Given the description of an element on the screen output the (x, y) to click on. 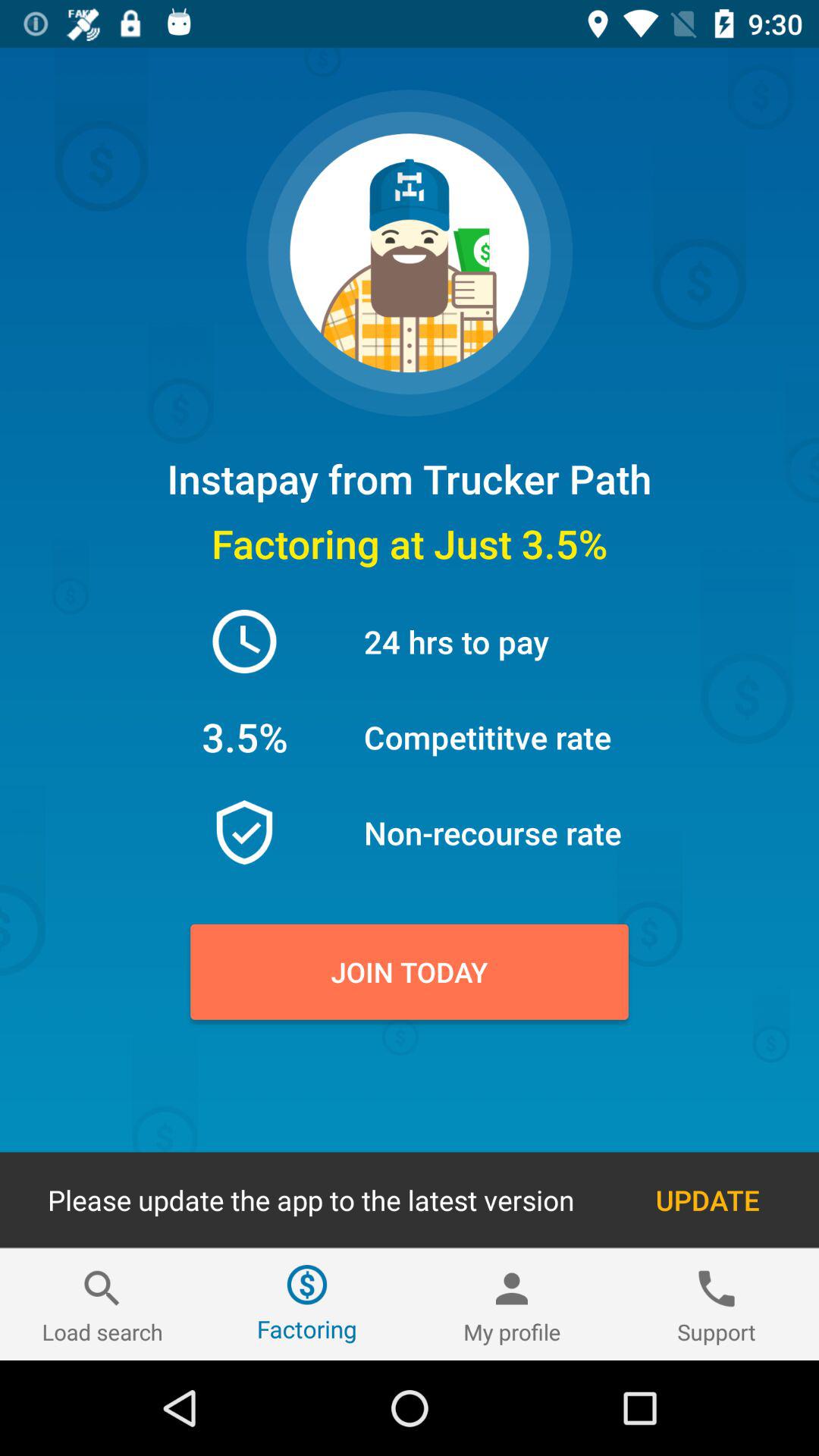
click item next to the my profile icon (716, 1304)
